Given the description of an element on the screen output the (x, y) to click on. 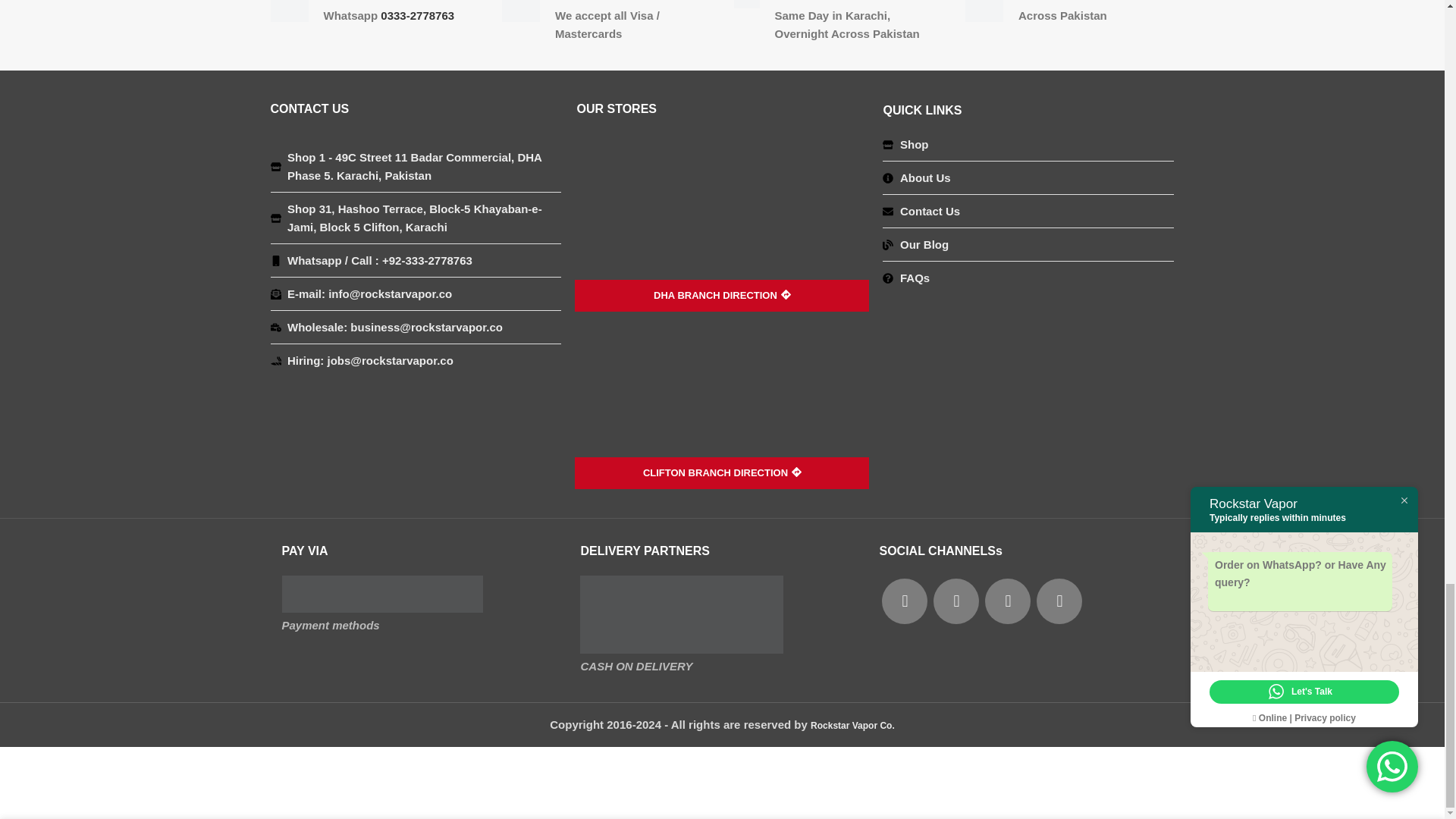
googlemap-clifton (721, 400)
googlemap-dha (721, 224)
